Given the description of an element on the screen output the (x, y) to click on. 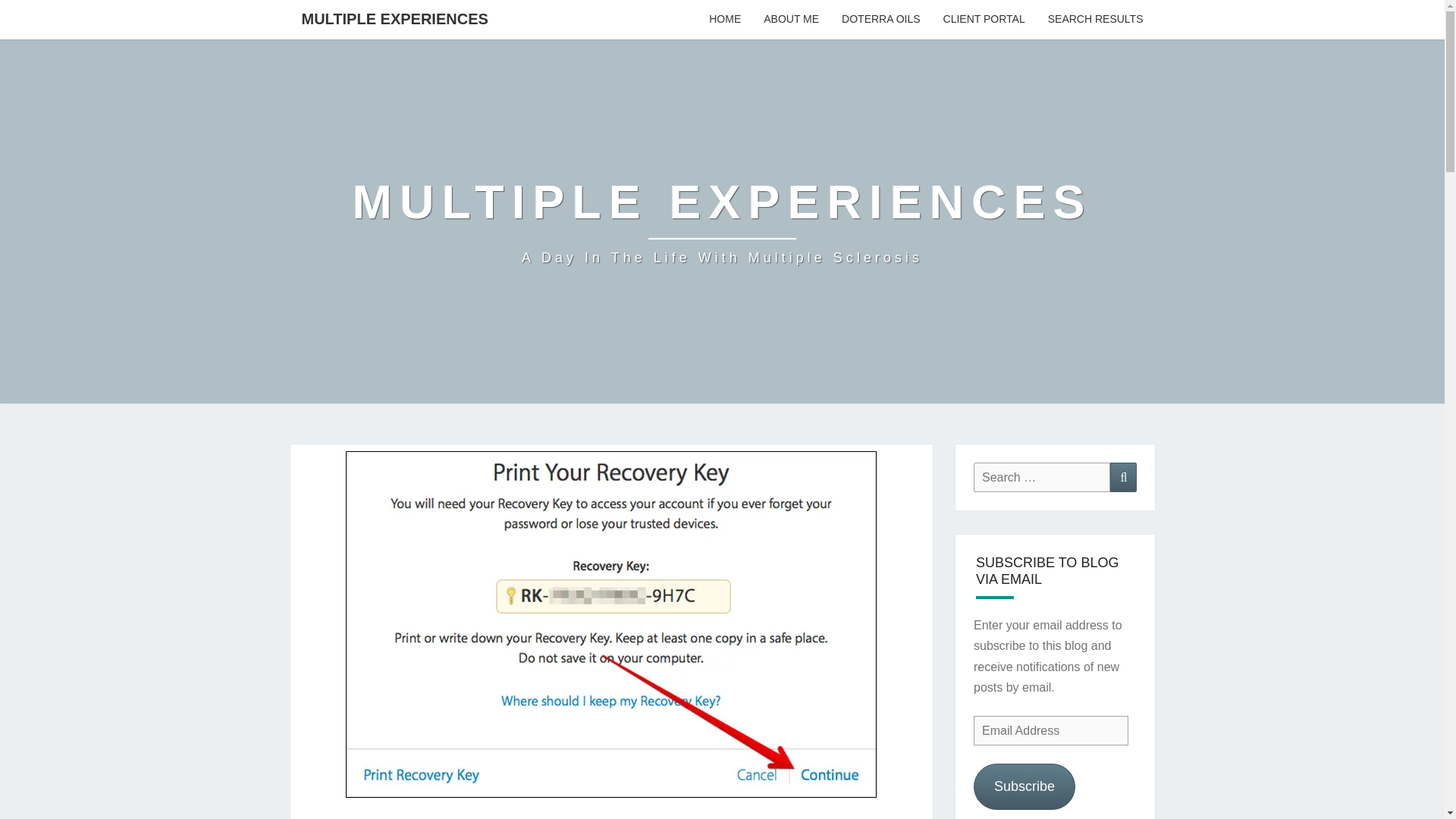
HOME (724, 19)
CLIENT PORTAL (983, 19)
Search for: (1041, 477)
Multiple experienceS (722, 221)
SEARCH RESULTS (1095, 19)
ABOUT ME (790, 19)
DOTERRA OILS (880, 19)
MULTIPLE EXPERIENCES (394, 18)
